Given the description of an element on the screen output the (x, y) to click on. 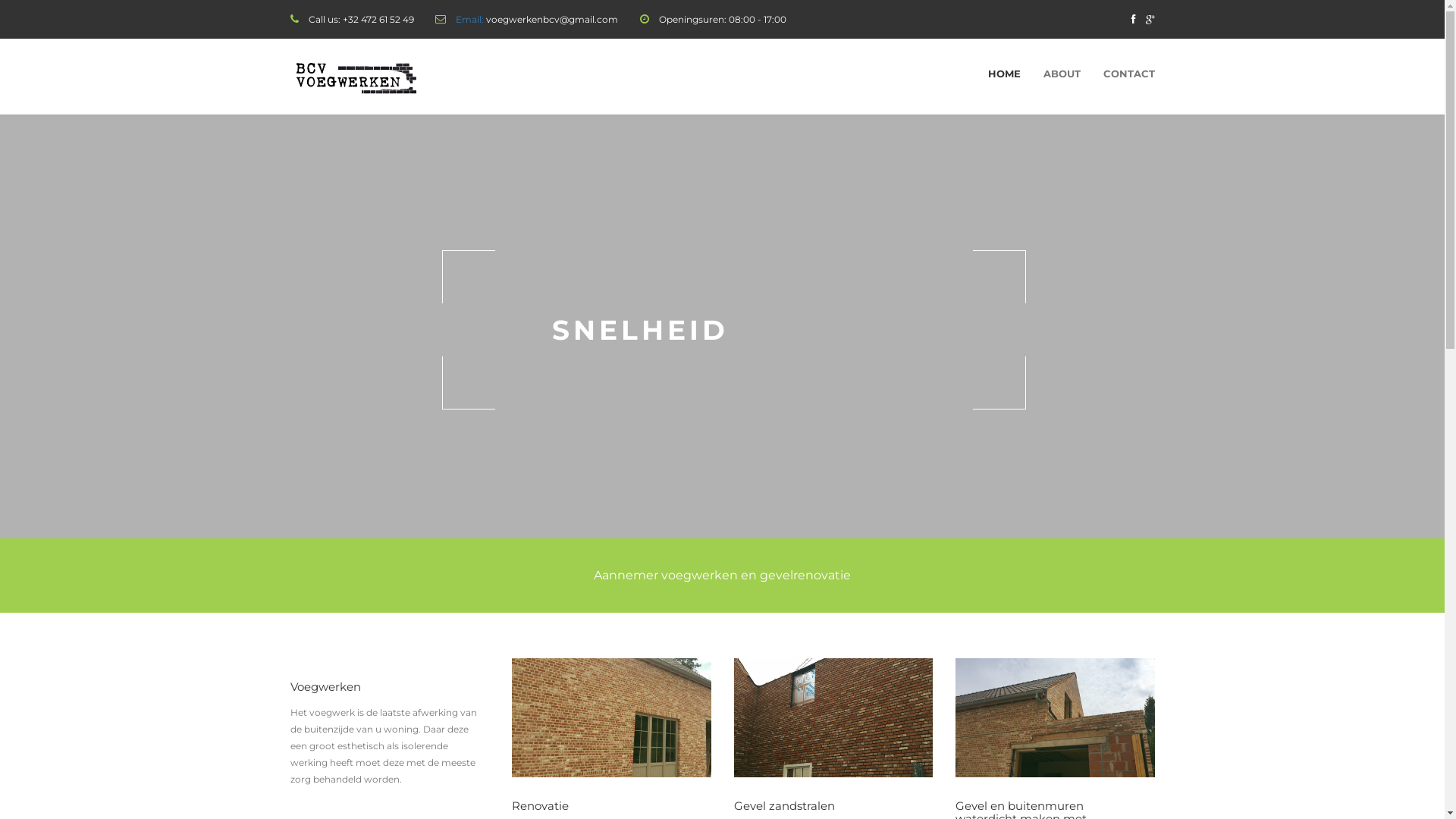
CONTACT Element type: text (1129, 73)
ABOUT Element type: text (1061, 73)
HOME Element type: text (1004, 73)
Email: Element type: text (469, 19)
